Given the description of an element on the screen output the (x, y) to click on. 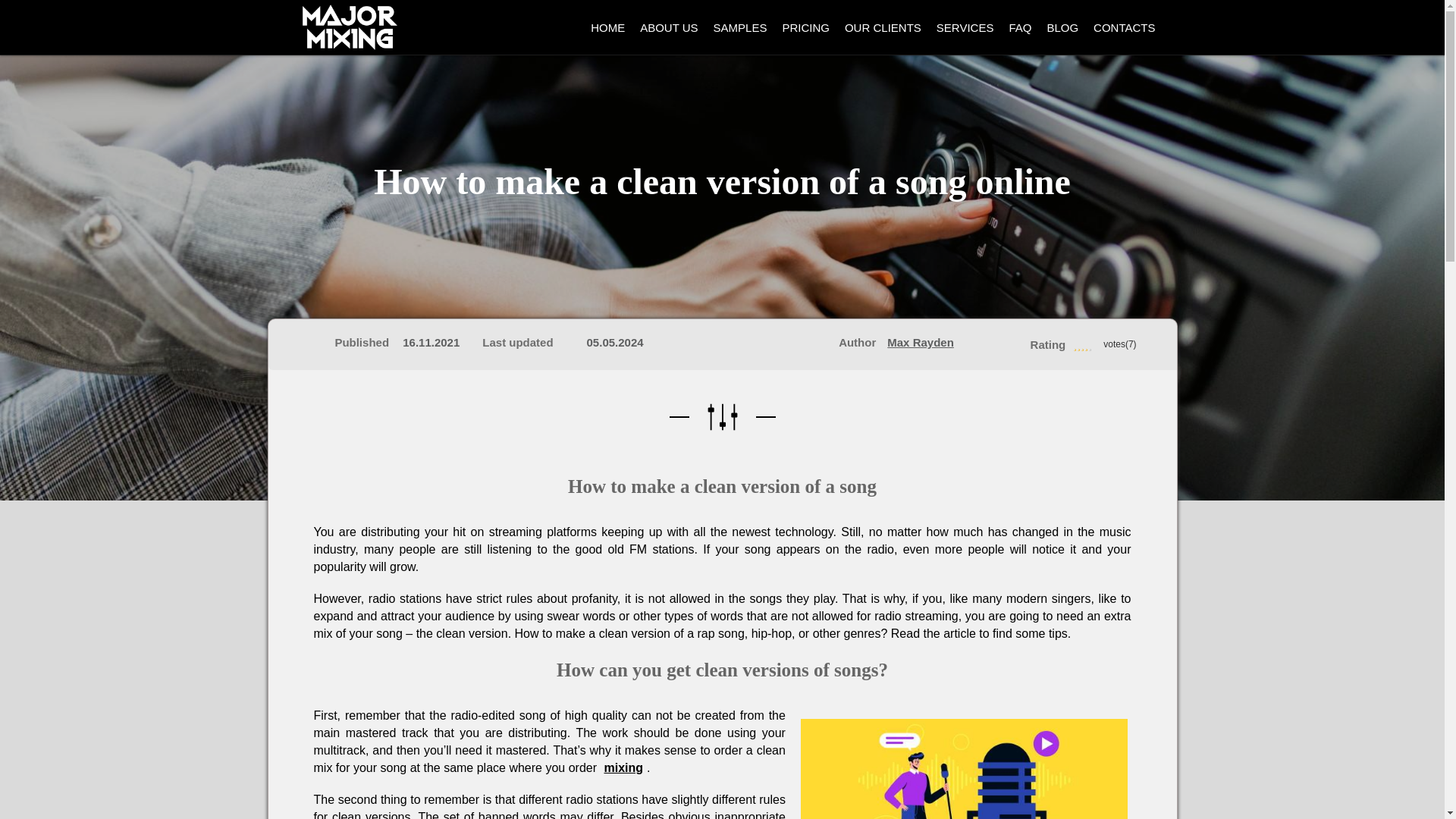
FAQ (1020, 26)
PRICING (805, 26)
HOME (607, 26)
BLOG (1062, 26)
SERVICES (964, 26)
ABOUT US (667, 26)
OUR CLIENTS (882, 26)
Max Rayden (919, 341)
mixing (623, 767)
CONTACTS (1123, 26)
